Given the description of an element on the screen output the (x, y) to click on. 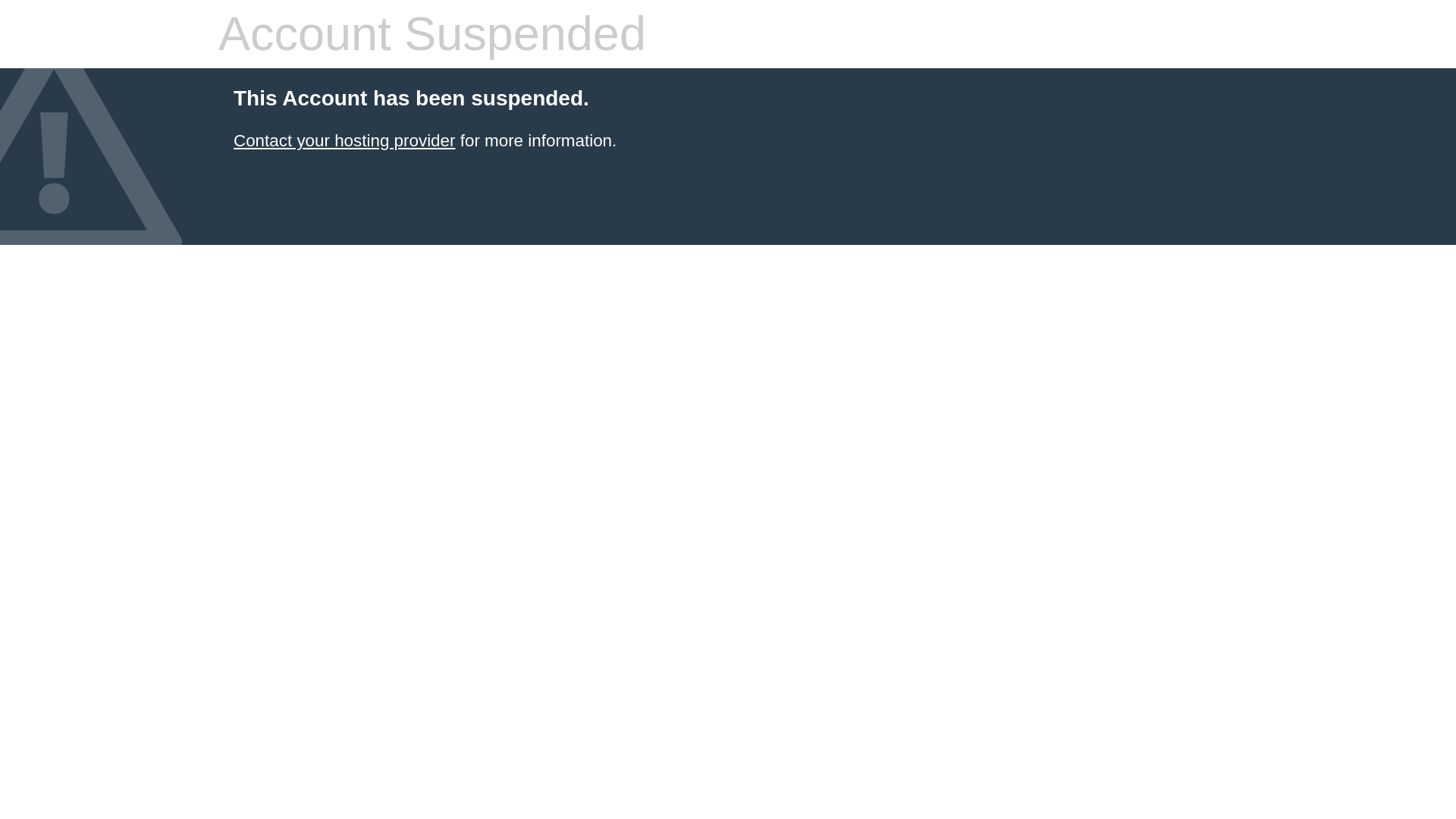
Contact your hosting provider (343, 140)
